Given the description of an element on the screen output the (x, y) to click on. 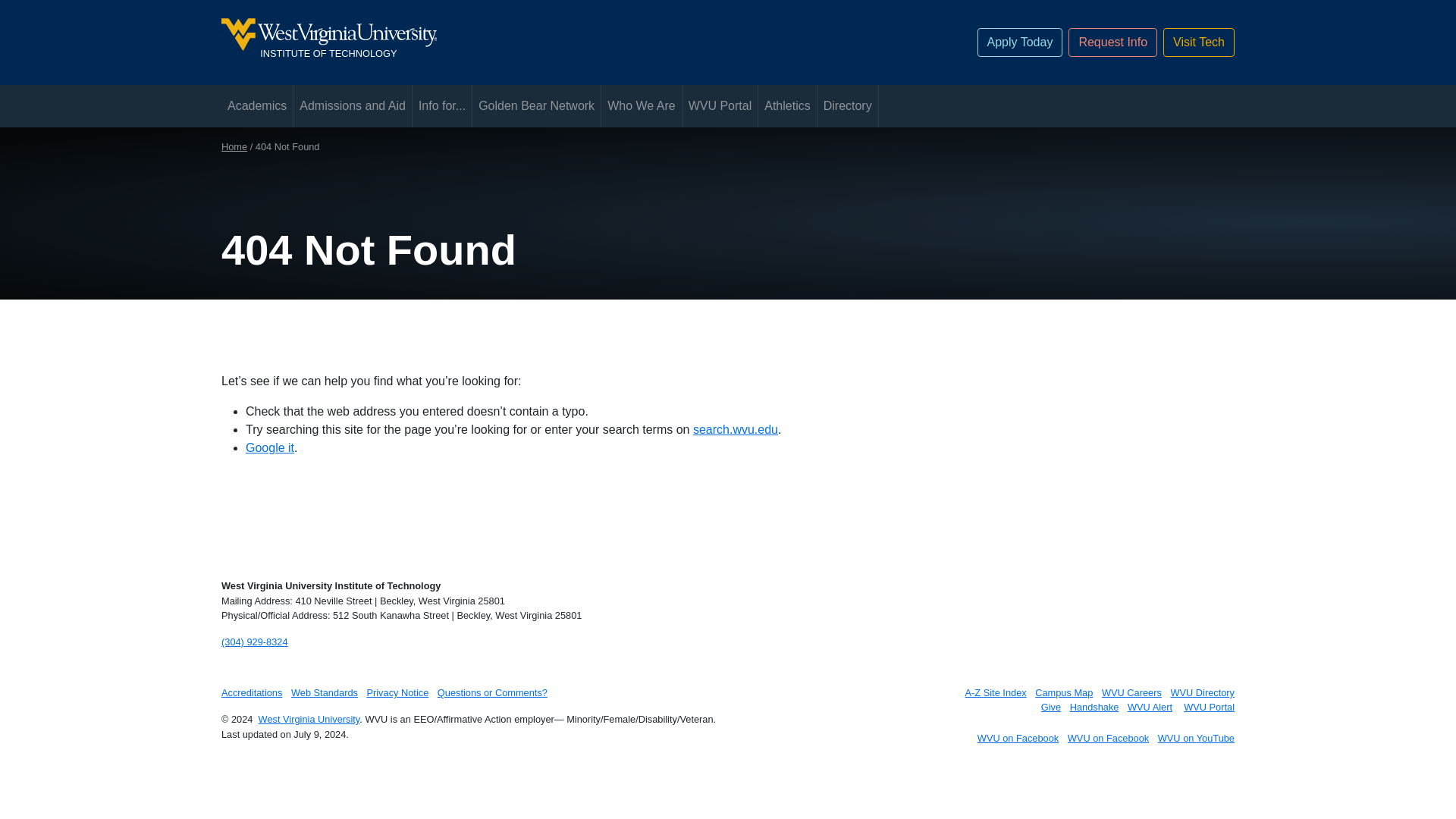
Who We Are (641, 106)
Apply Today (1019, 41)
Admissions and Aid (353, 106)
Directory (846, 106)
Golden Bear Network (535, 106)
Visit Tech (1198, 41)
Request Info (1112, 41)
Info for... (441, 106)
Athletics (556, 42)
